Given the description of an element on the screen output the (x, y) to click on. 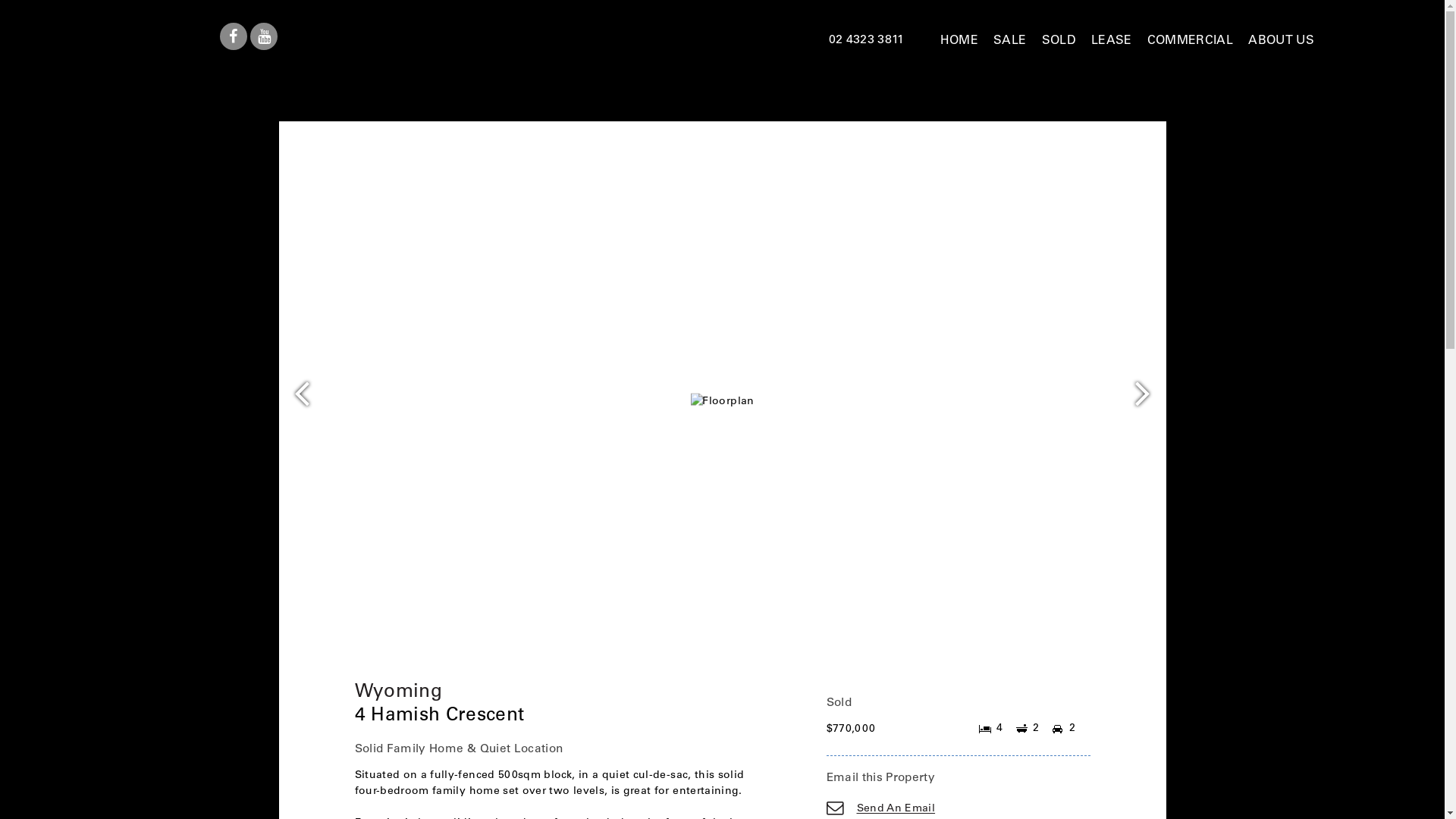
COMMERCIAL Element type: text (1190, 40)
HOME Element type: text (958, 40)
SALE Element type: text (1009, 40)
SOLD Element type: text (1058, 40)
ABOUT US Element type: text (1280, 40)
LEASE Element type: text (1111, 40)
